Given the description of an element on the screen output the (x, y) to click on. 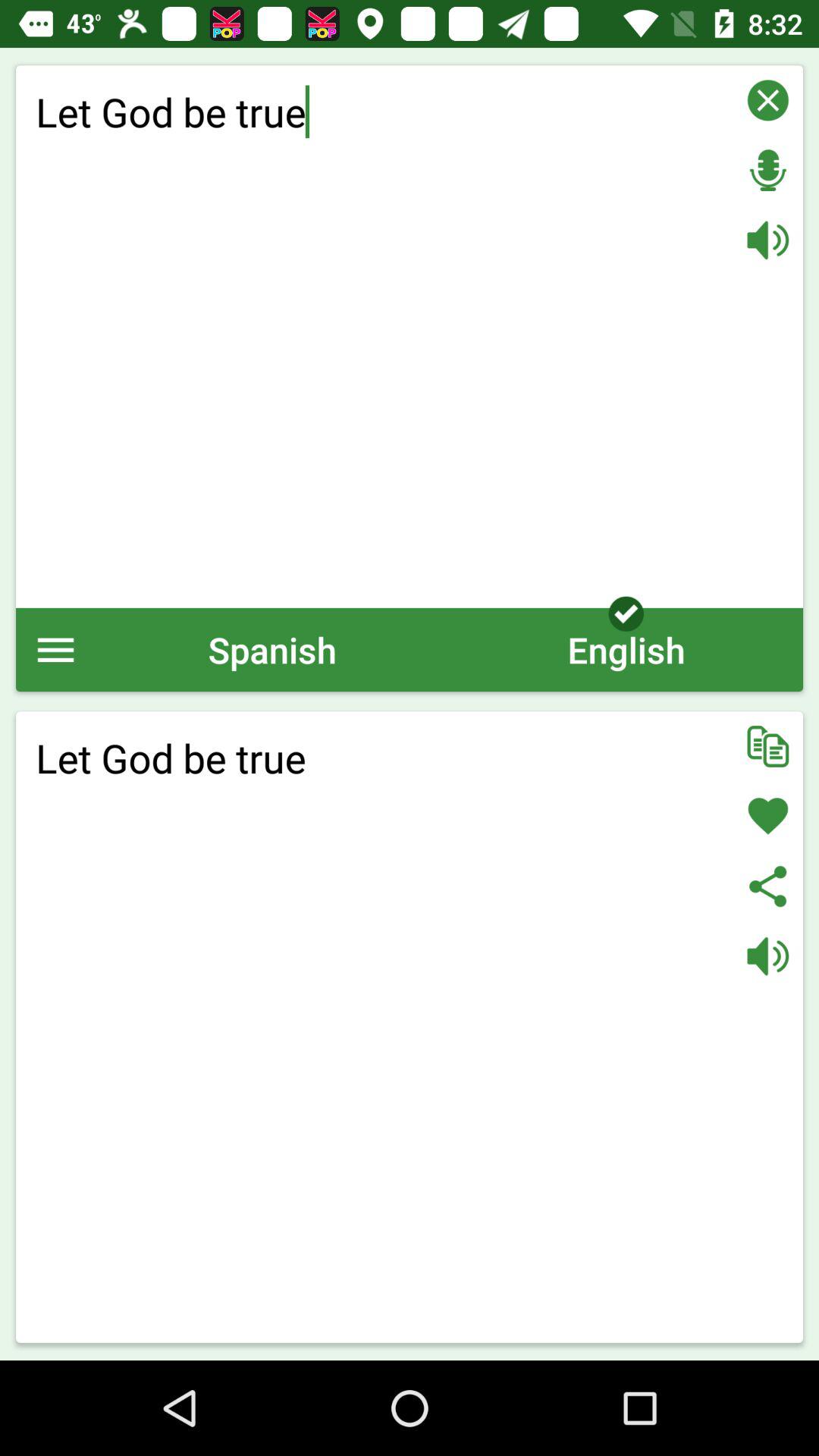
listen to the translation (768, 956)
